Given the description of an element on the screen output the (x, y) to click on. 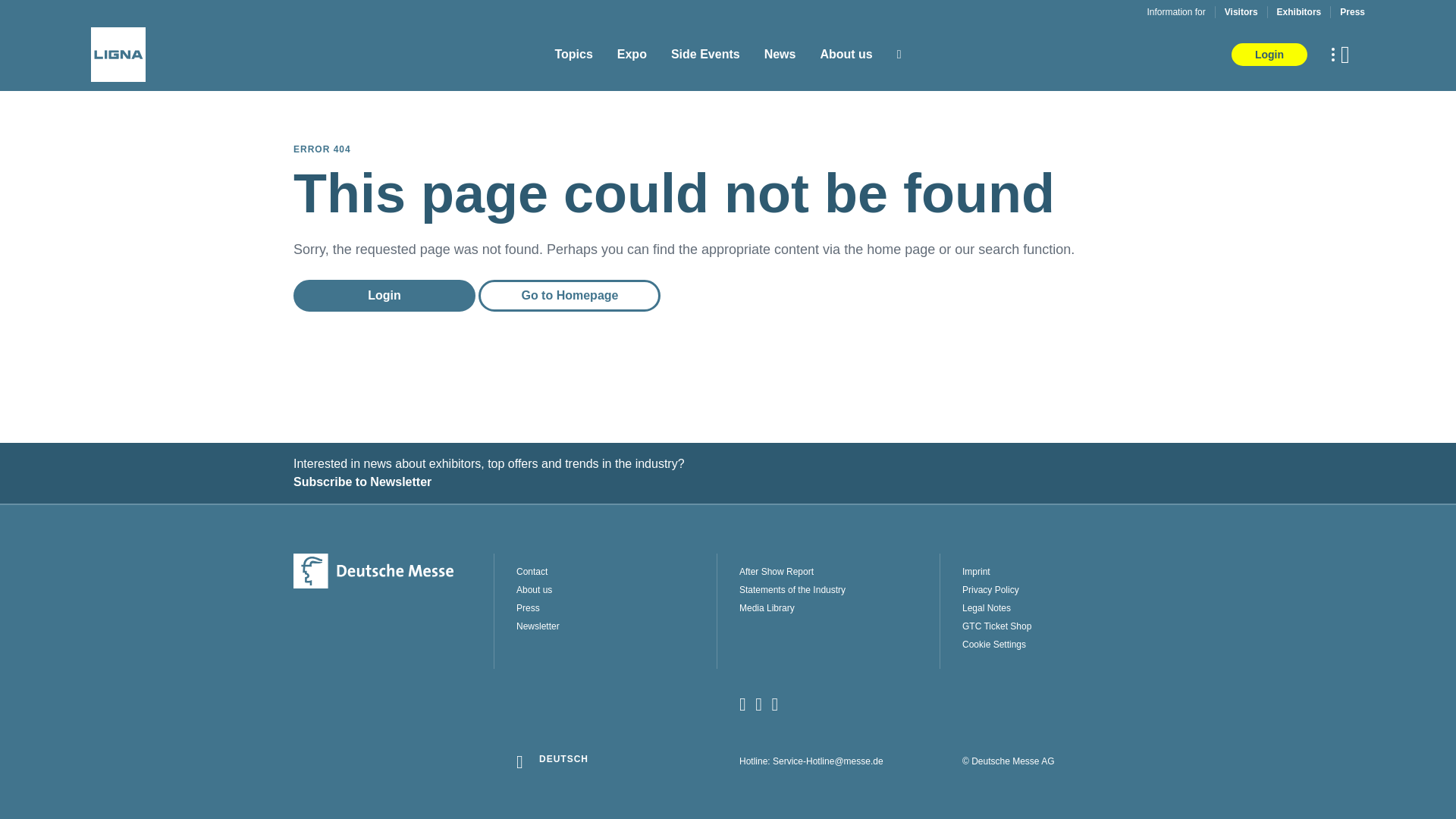
Media Library (839, 607)
Visitors (1240, 11)
Cookie Settings (1061, 644)
Go to Homepage (570, 296)
Topics (573, 54)
Expo (631, 54)
Login (385, 296)
Newsletter (616, 625)
Press (1352, 11)
Statements of the Industry (839, 589)
Contact (616, 571)
After Show Report (839, 571)
Exhibitors (1299, 11)
News (780, 54)
Subscribe to Newsletter (727, 482)
